Given the description of an element on the screen output the (x, y) to click on. 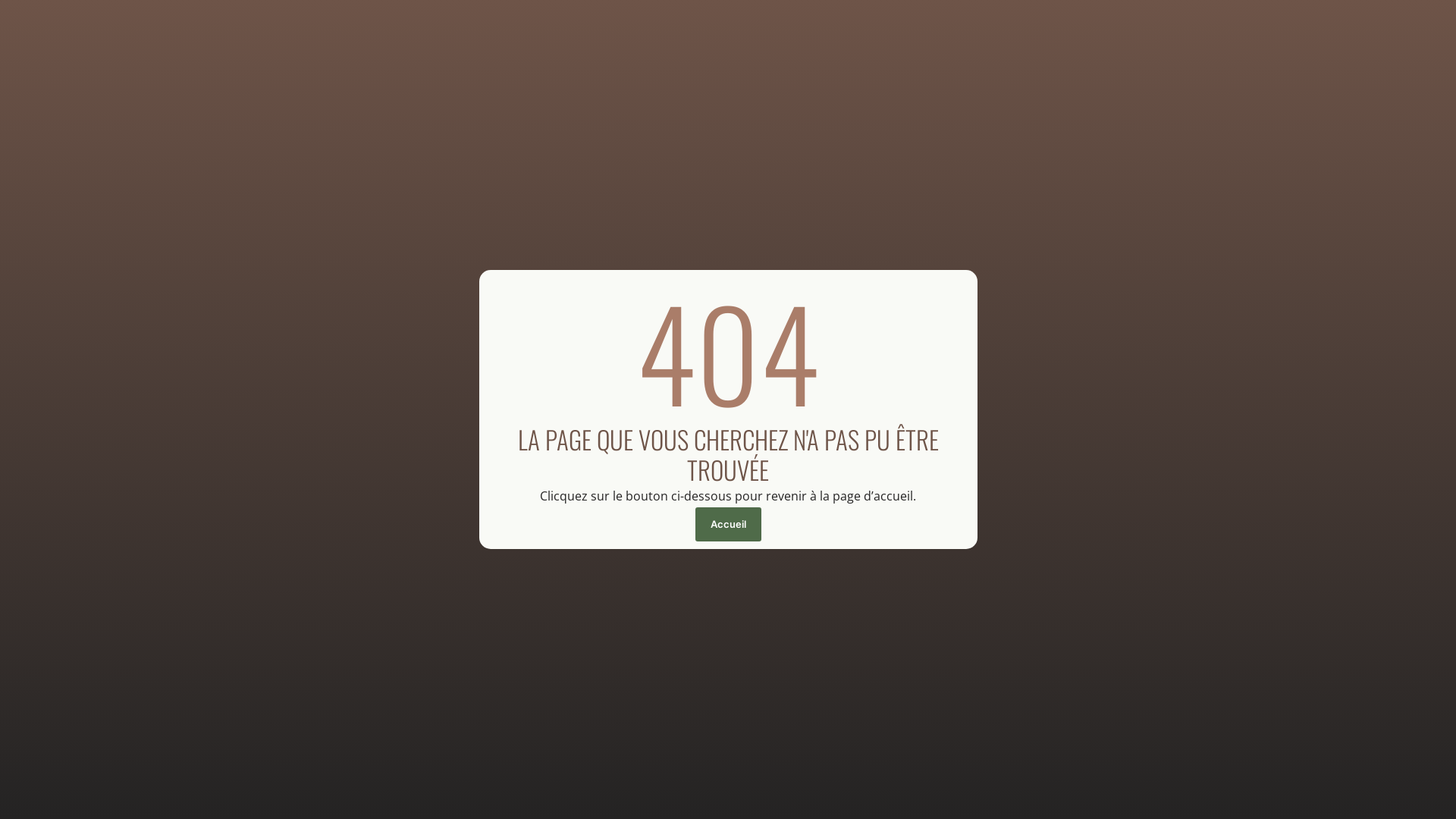
Accueil Element type: text (727, 524)
